Given the description of an element on the screen output the (x, y) to click on. 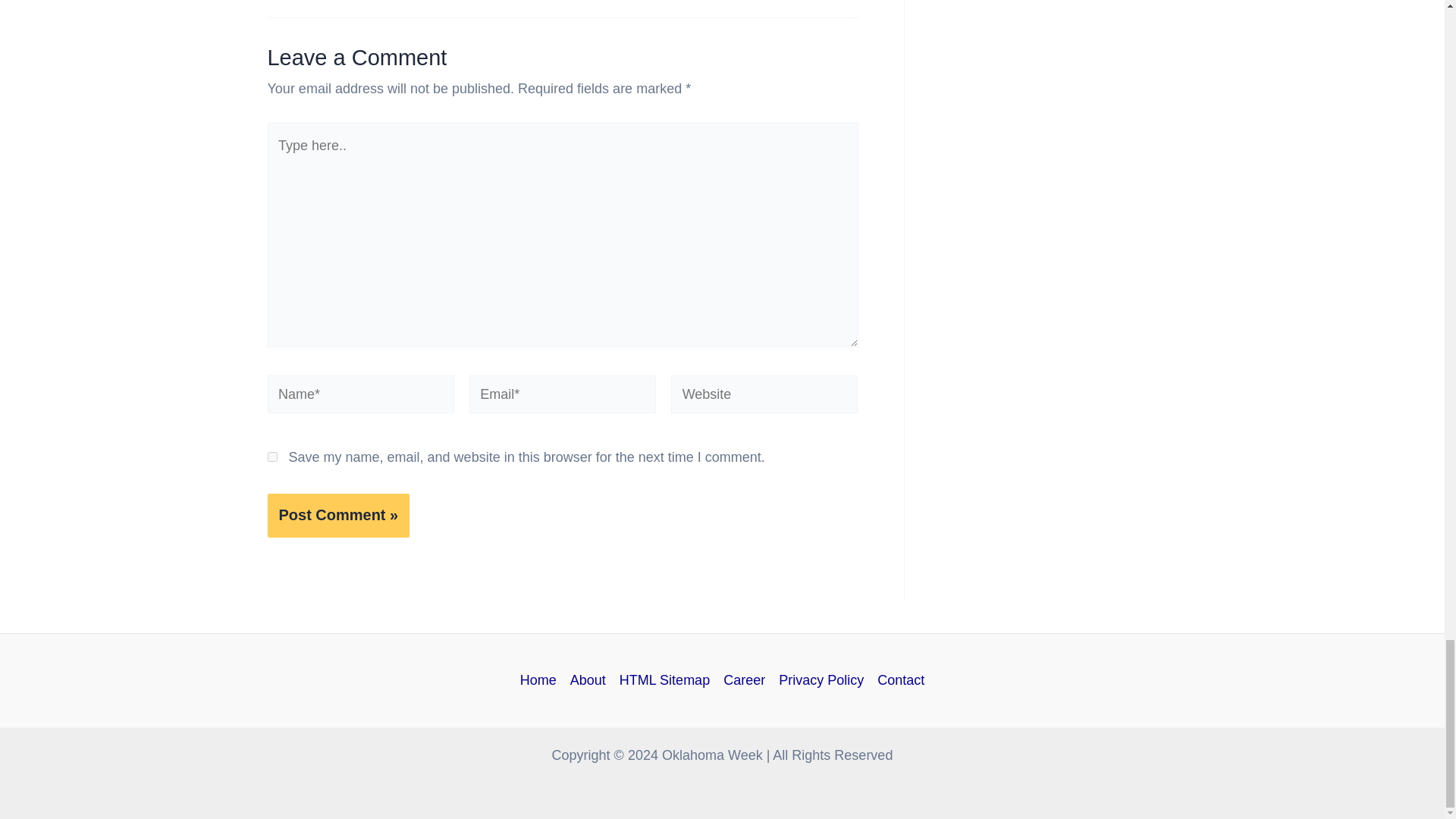
yes (271, 456)
